Given the description of an element on the screen output the (x, y) to click on. 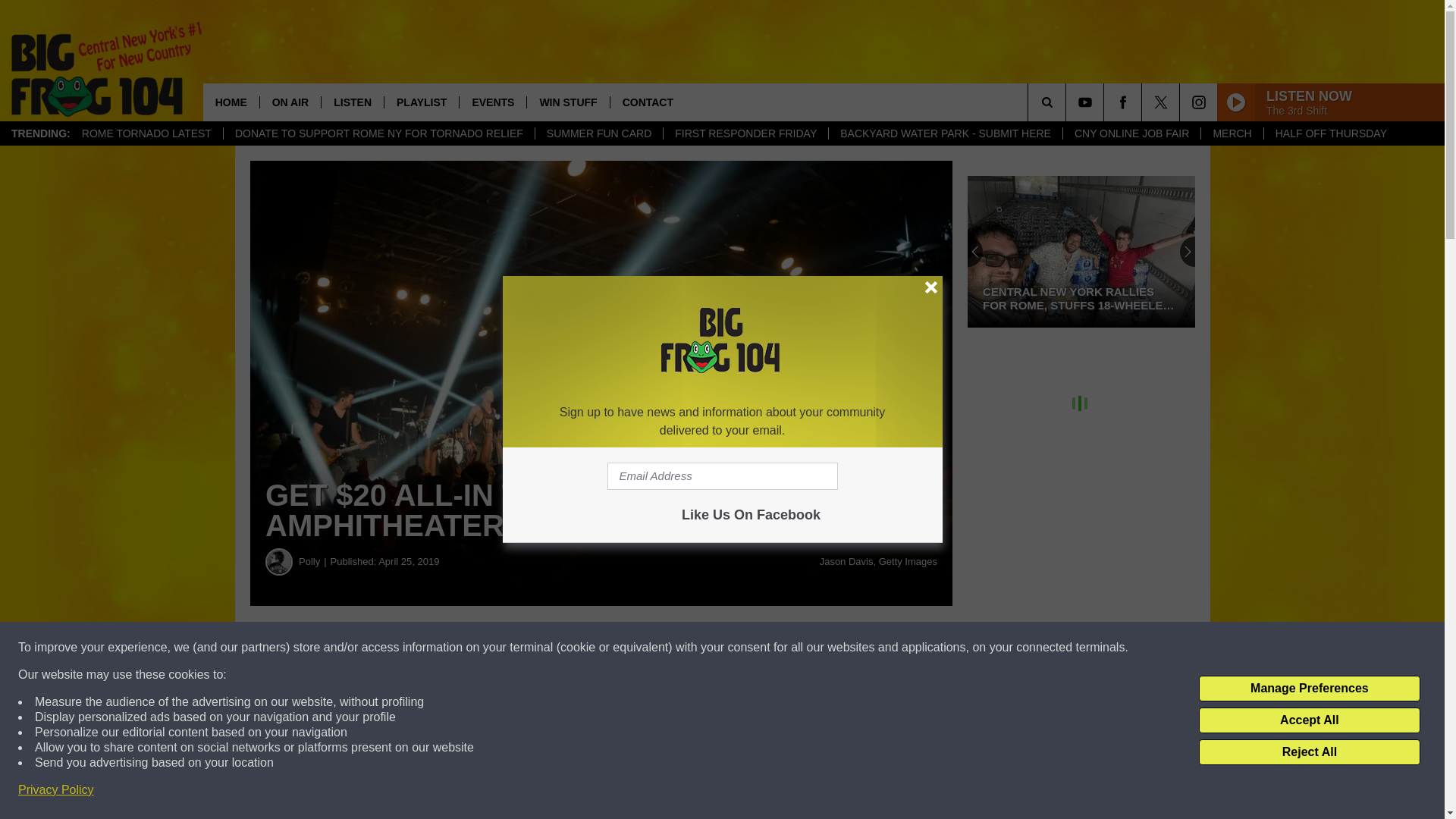
PLAYLIST (421, 102)
WIN STUFF (566, 102)
CONTACT (647, 102)
Share on Facebook (460, 647)
HALF OFF THURSDAY (1330, 133)
Manage Preferences (1309, 688)
Privacy Policy (55, 789)
DONATE TO SUPPORT ROME NY FOR TORNADO RELIEF (378, 133)
Accept All (1309, 720)
ON AIR (289, 102)
EVENTS (491, 102)
SEARCH (1068, 102)
Reject All (1309, 751)
ROME TORNADO LATEST (145, 133)
CNY ONLINE JOB FAIR (1130, 133)
